Given the description of an element on the screen output the (x, y) to click on. 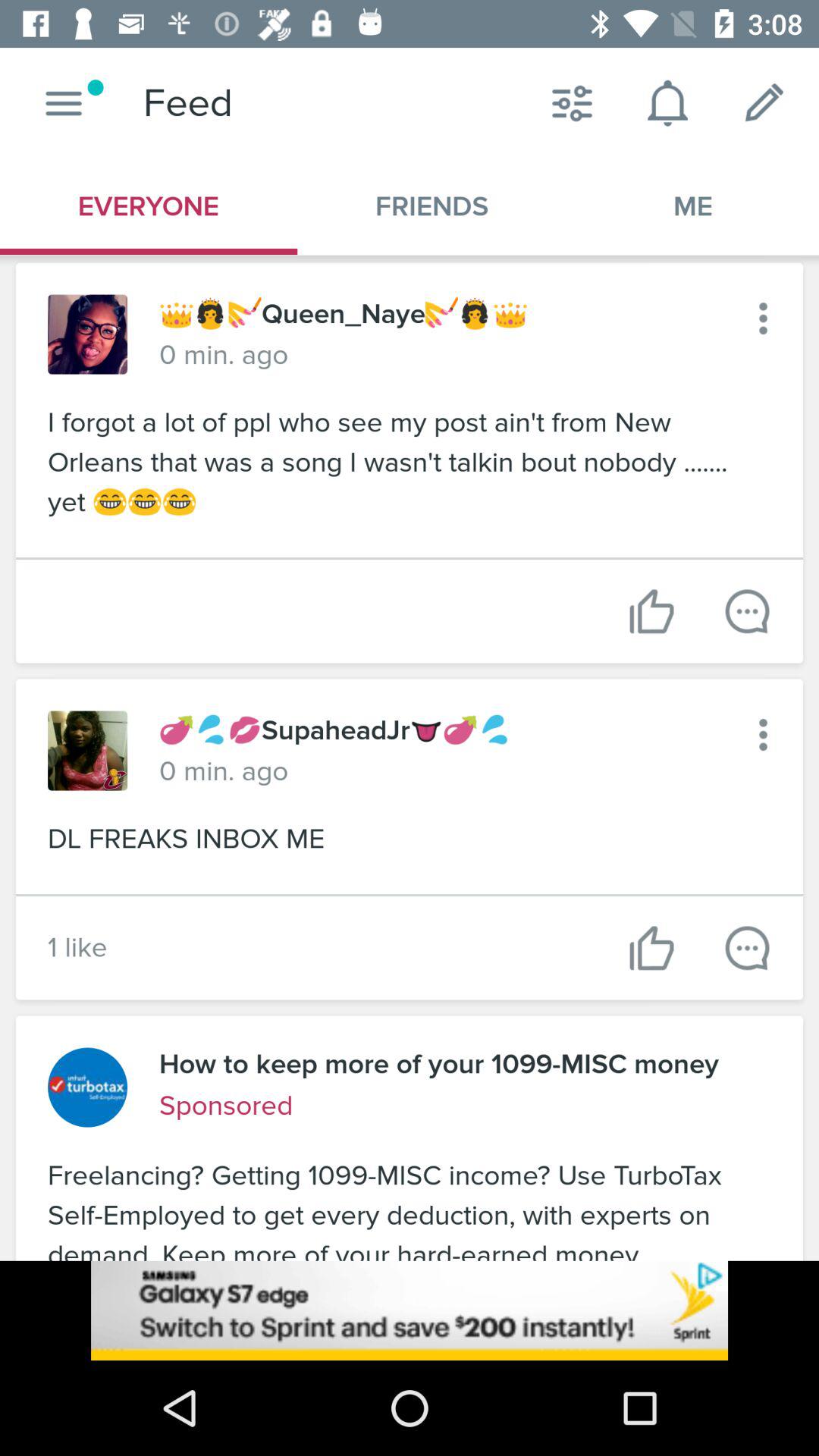
share comments (747, 611)
